Given the description of an element on the screen output the (x, y) to click on. 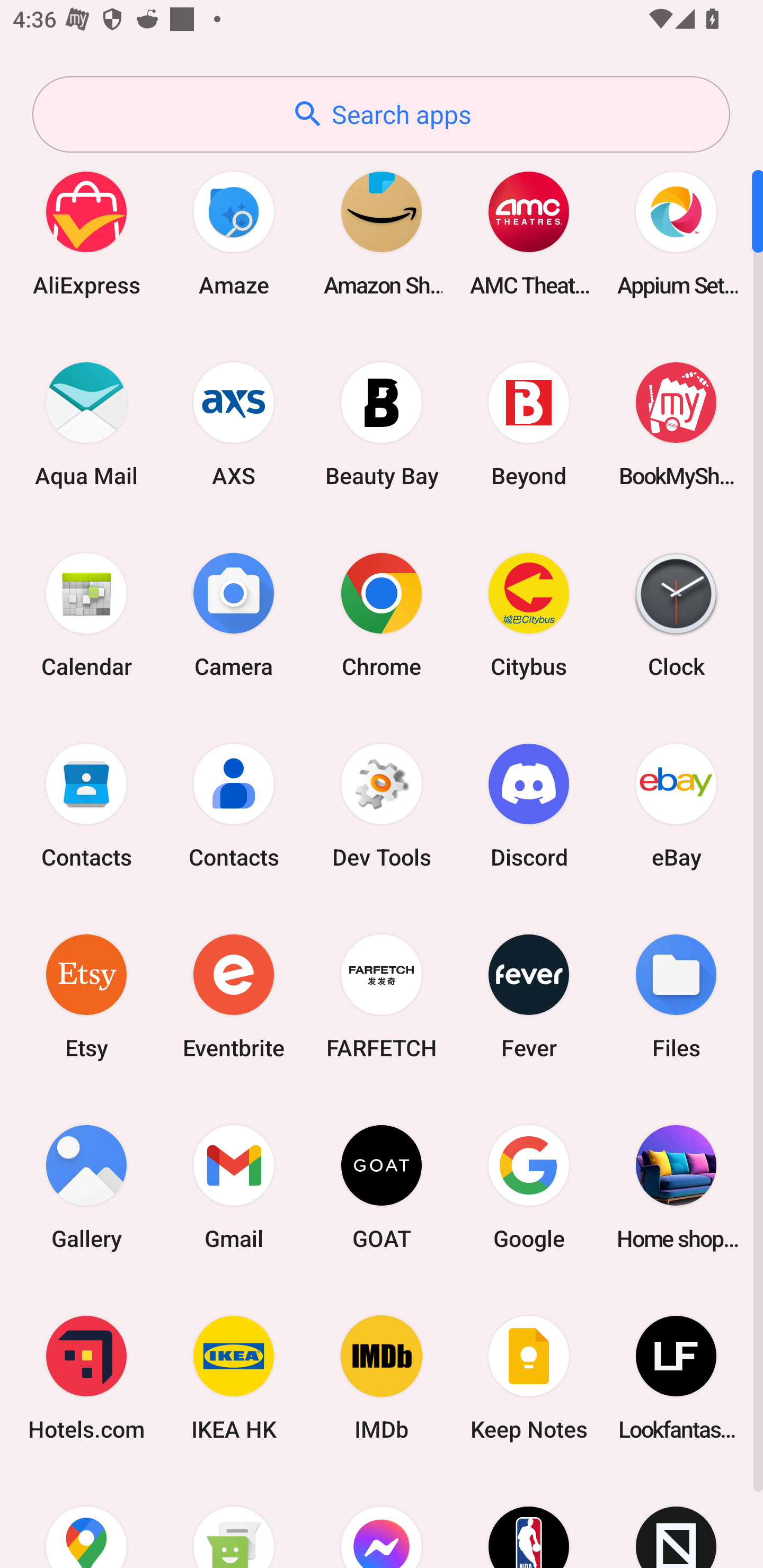
  Search apps (381, 114)
AliExpress (86, 233)
Amaze (233, 233)
Amazon Shopping (381, 233)
AMC Theatres (528, 233)
Appium Settings (676, 233)
Aqua Mail (86, 424)
AXS (233, 424)
Beauty Bay (381, 424)
Beyond (528, 424)
BookMyShow (676, 424)
Calendar (86, 614)
Camera (233, 614)
Chrome (381, 614)
Citybus (528, 614)
Clock (676, 614)
Contacts (86, 805)
Contacts (233, 805)
Dev Tools (381, 805)
Discord (528, 805)
eBay (676, 805)
Etsy (86, 996)
Eventbrite (233, 996)
FARFETCH (381, 996)
Fever (528, 996)
Files (676, 996)
Gallery (86, 1186)
Gmail (233, 1186)
GOAT (381, 1186)
Google (528, 1186)
Home shopping (676, 1186)
Hotels.com (86, 1377)
IKEA HK (233, 1377)
IMDb (381, 1377)
Keep Notes (528, 1377)
Lookfantastic (676, 1377)
